Given the description of an element on the screen output the (x, y) to click on. 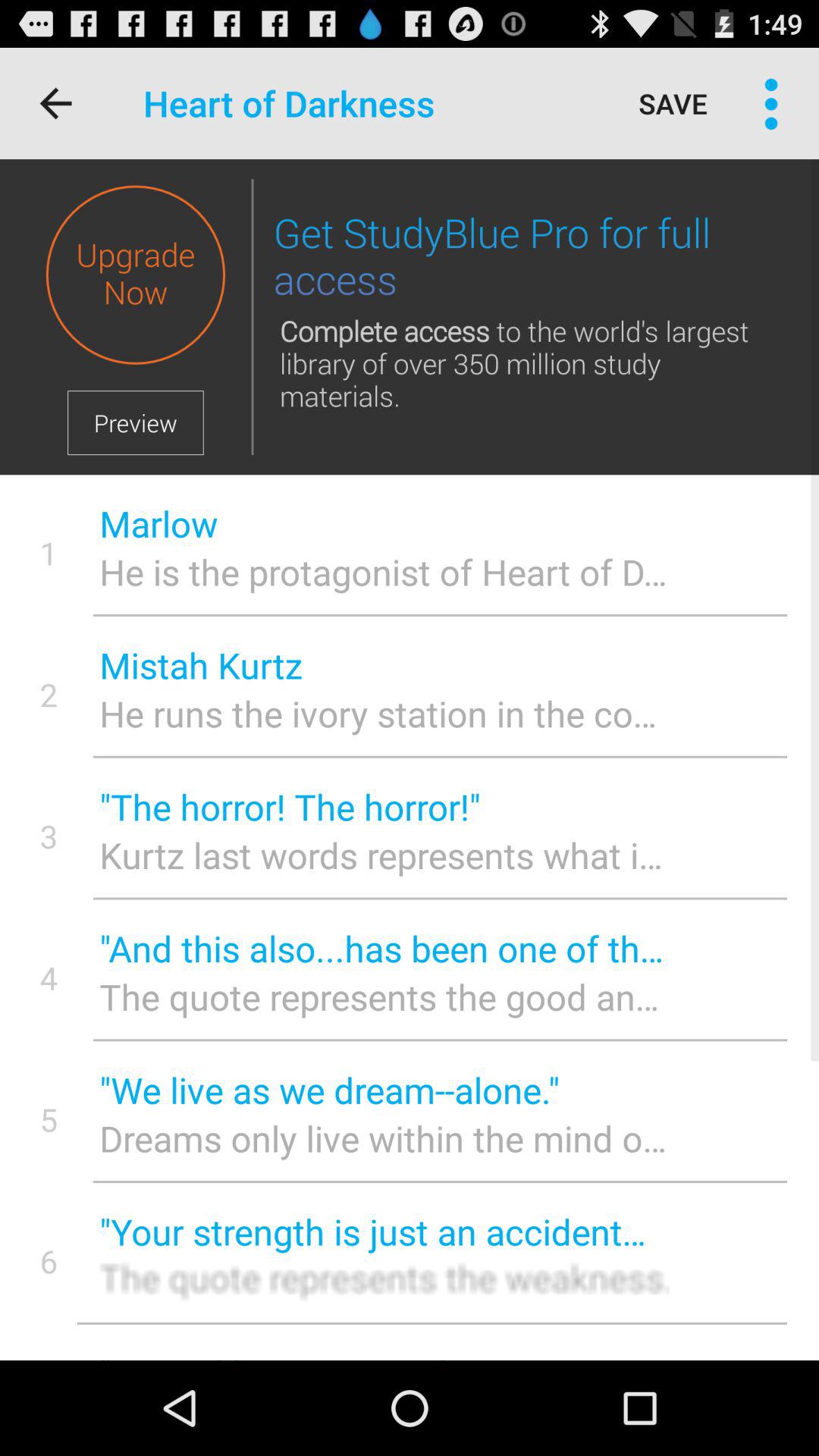
turn off the marlow (384, 523)
